Given the description of an element on the screen output the (x, y) to click on. 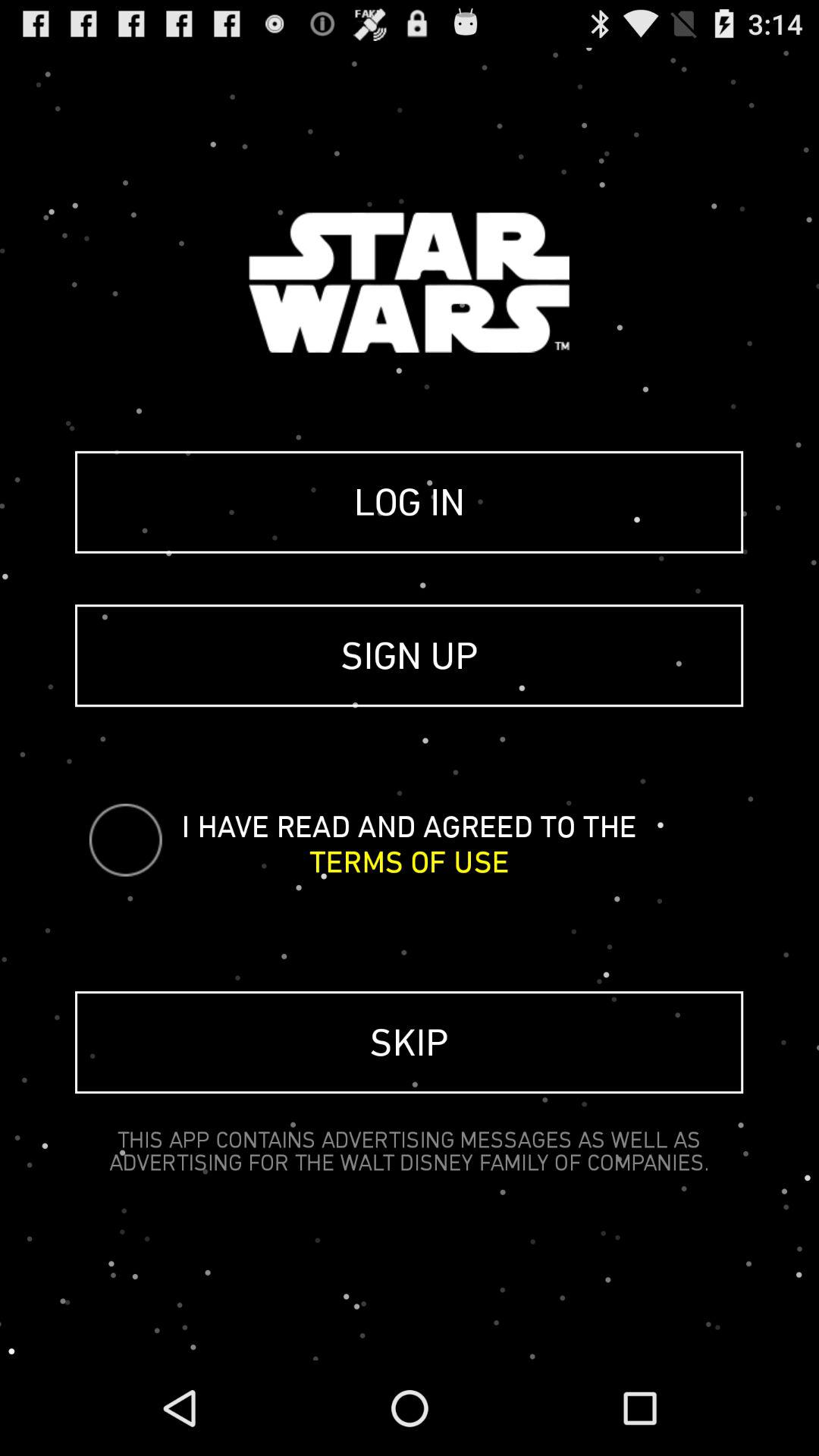
click item above the this app contains (409, 1042)
